Given the description of an element on the screen output the (x, y) to click on. 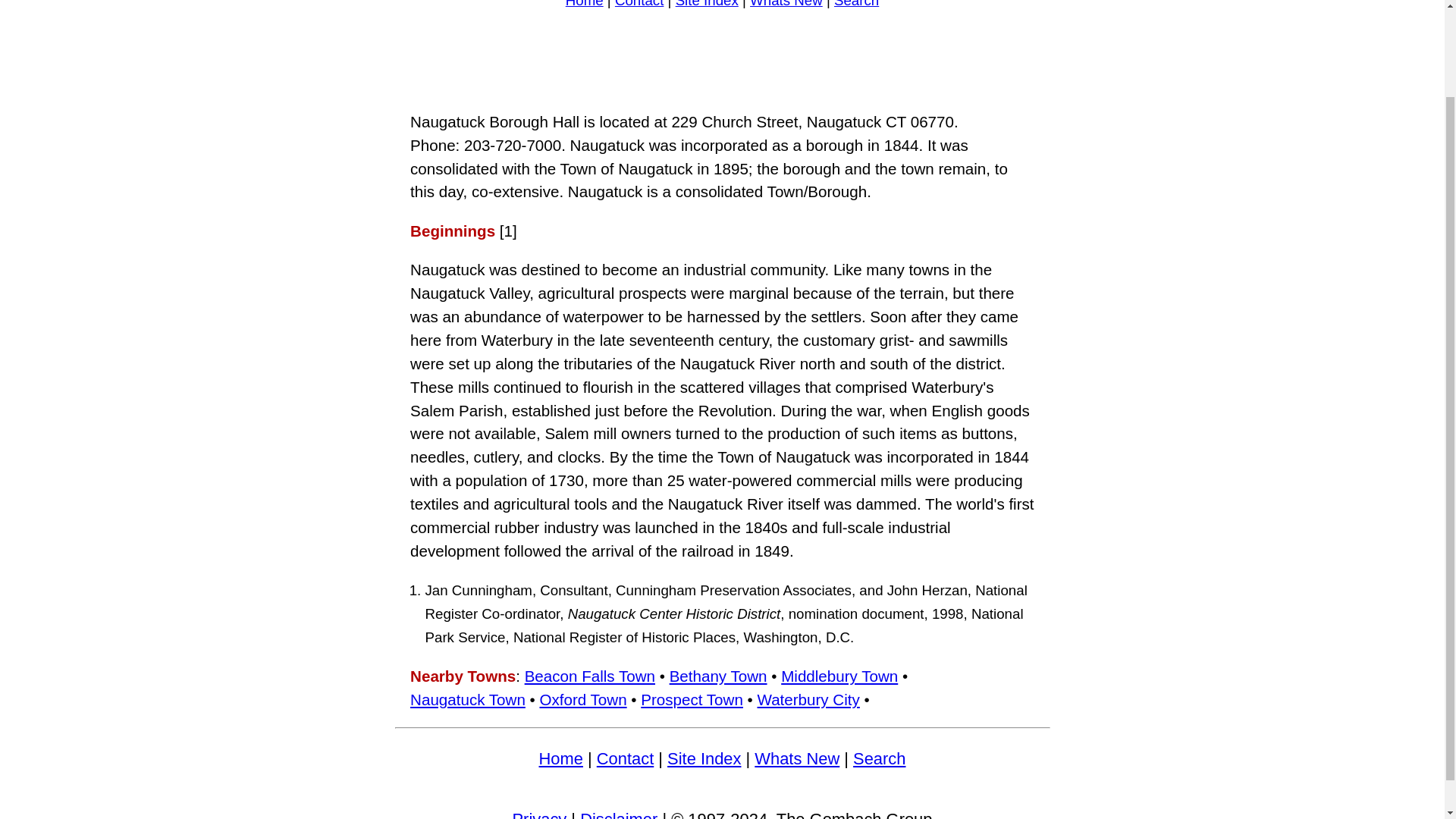
Naugatuck Town (467, 699)
Oxford Town (582, 699)
Home (585, 4)
Home (560, 758)
Contact (624, 758)
Contact (638, 4)
Beacon Falls Town (589, 675)
